Given the description of an element on the screen output the (x, y) to click on. 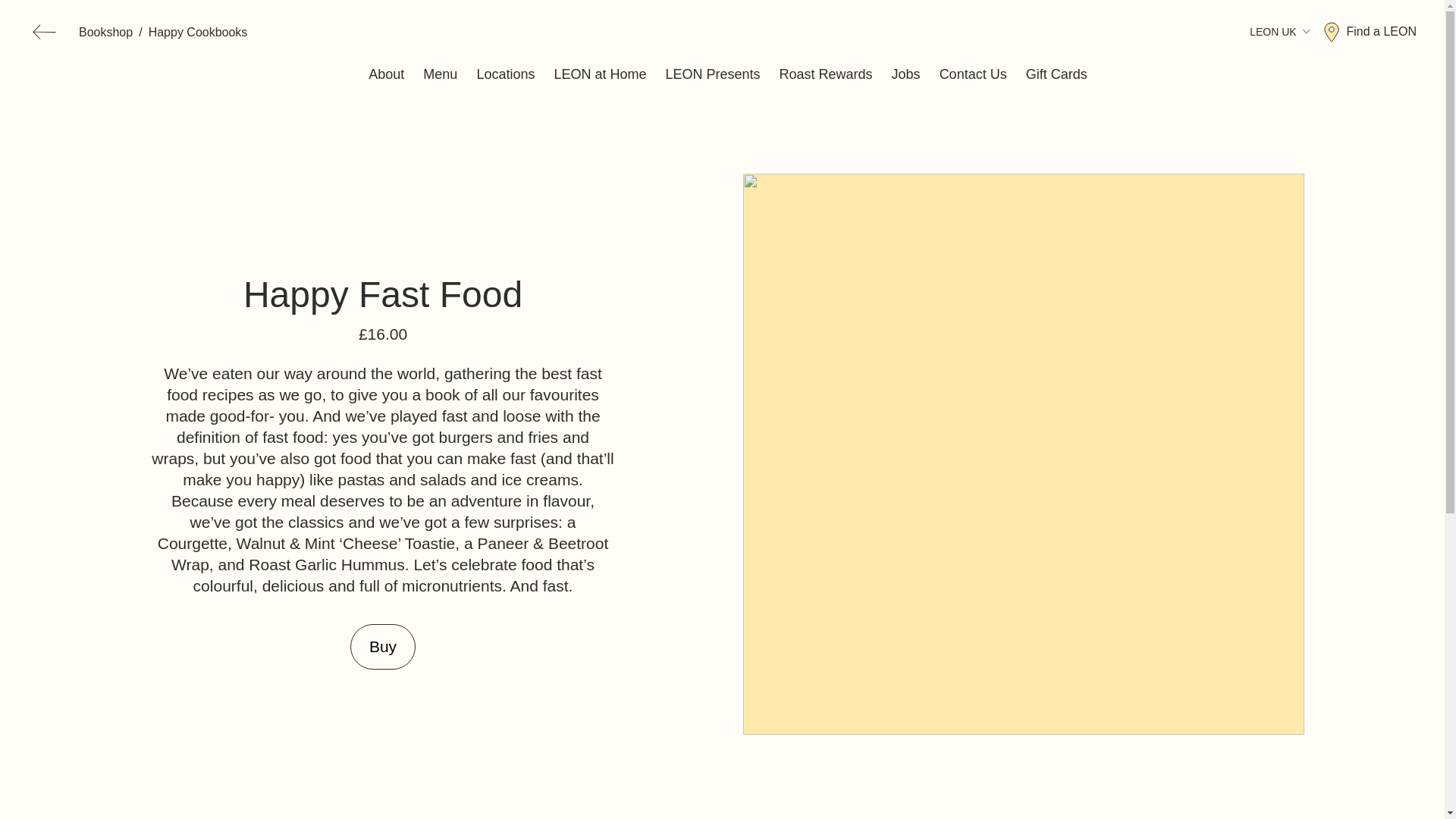
Buy (382, 646)
Jobs (905, 74)
LEON at Home (599, 74)
Contact Us (973, 74)
LEON Presents (712, 74)
Gift Cards (1056, 74)
Primary navigation (727, 74)
Bookshop (105, 32)
Locations (505, 74)
Back (44, 32)
Find a LEON (1369, 31)
About (386, 74)
Roast Rewards (825, 74)
Menu (440, 74)
